Given the description of an element on the screen output the (x, y) to click on. 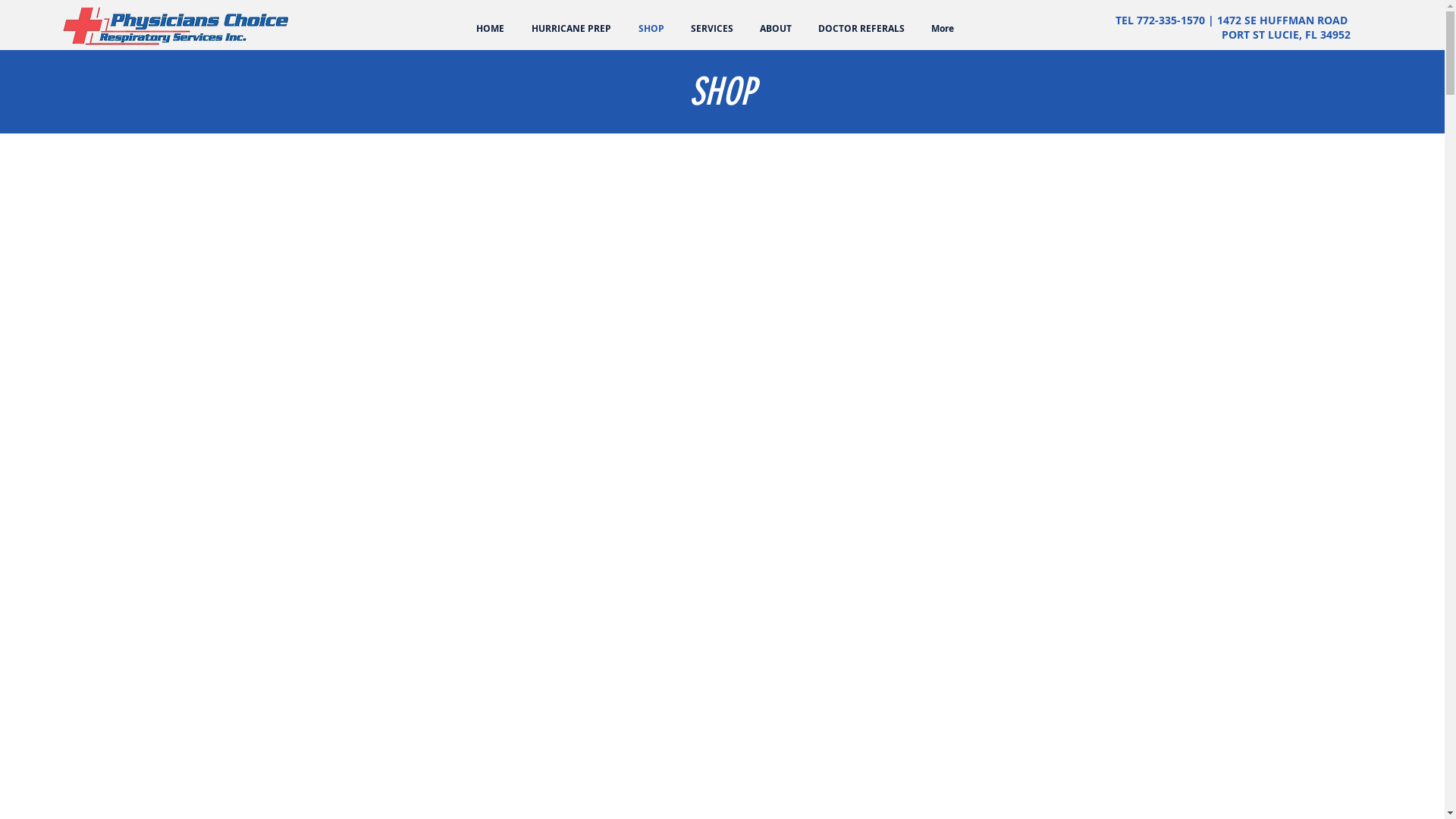
Online Store Element type: hover (949, 176)
HURRICANE PREP Element type: text (570, 28)
DOCTOR REFERALS Element type: text (860, 28)
SHOP Element type: text (650, 28)
ABOUT Element type: text (775, 28)
HOME Element type: text (489, 28)
SERVICES Element type: text (711, 28)
PCRS LOGO.png Element type: hover (176, 26)
Online Store Element type: hover (1388, 41)
